Given the description of an element on the screen output the (x, y) to click on. 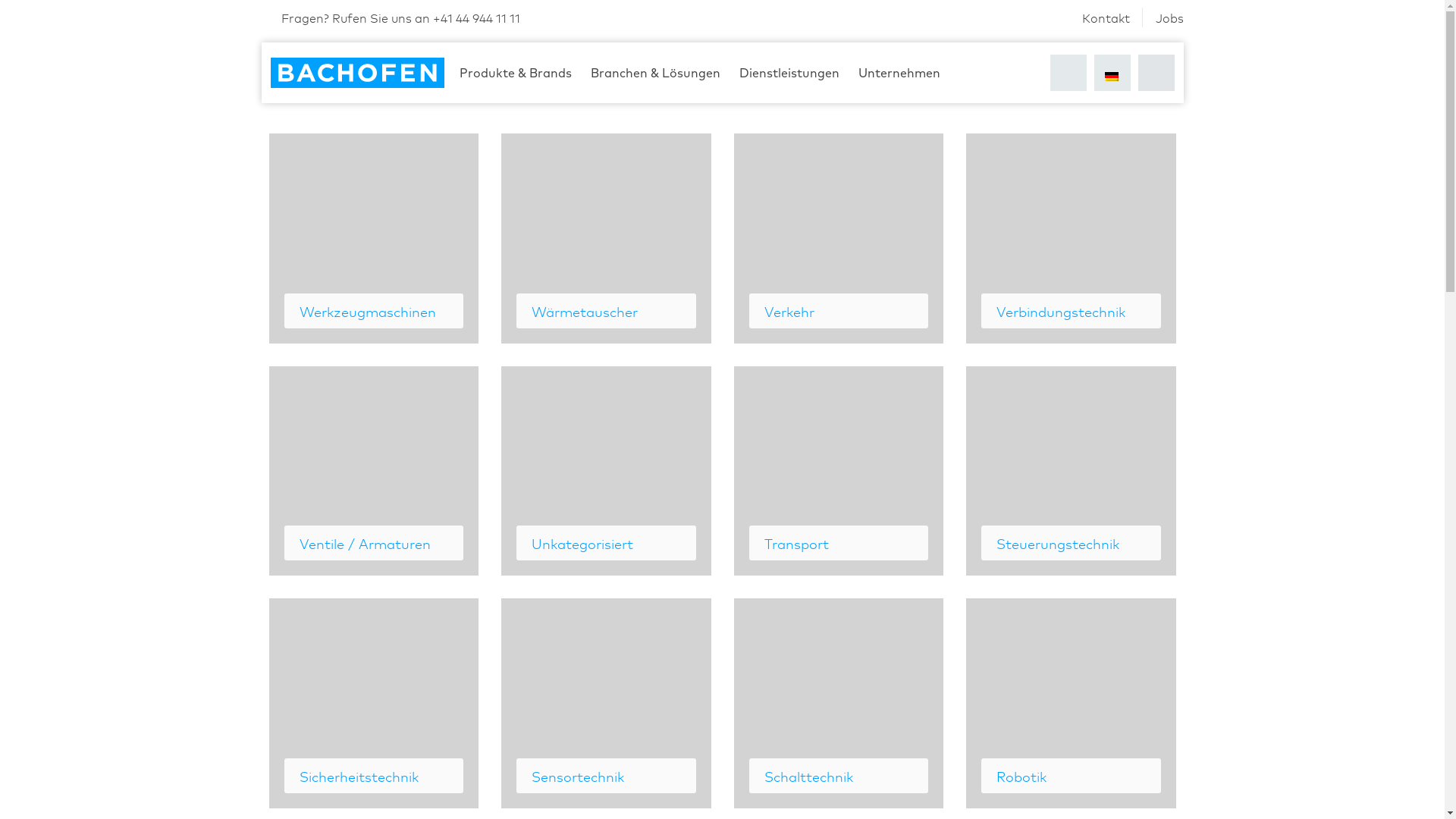
Verkehr Element type: text (839, 238)
Ventile / Armaturen Element type: text (373, 470)
Sensortechnik Element type: text (606, 703)
Jobs Element type: text (1169, 17)
Unkategorisiert Element type: text (606, 470)
Fragen? Rufen Sie uns an Element type: text (389, 17)
Suchen Element type: hover (1068, 72)
Werkzeugmaschinen Element type: text (373, 238)
Schalttechnik Element type: text (839, 703)
Verbindungstechnik Element type: text (1071, 238)
Sicherheitstechnik Element type: text (373, 703)
Steuerungstechnik Element type: text (1071, 470)
Robotik Element type: text (1071, 703)
Kontakt Element type: text (1105, 17)
Transport Element type: text (839, 470)
